Given the description of an element on the screen output the (x, y) to click on. 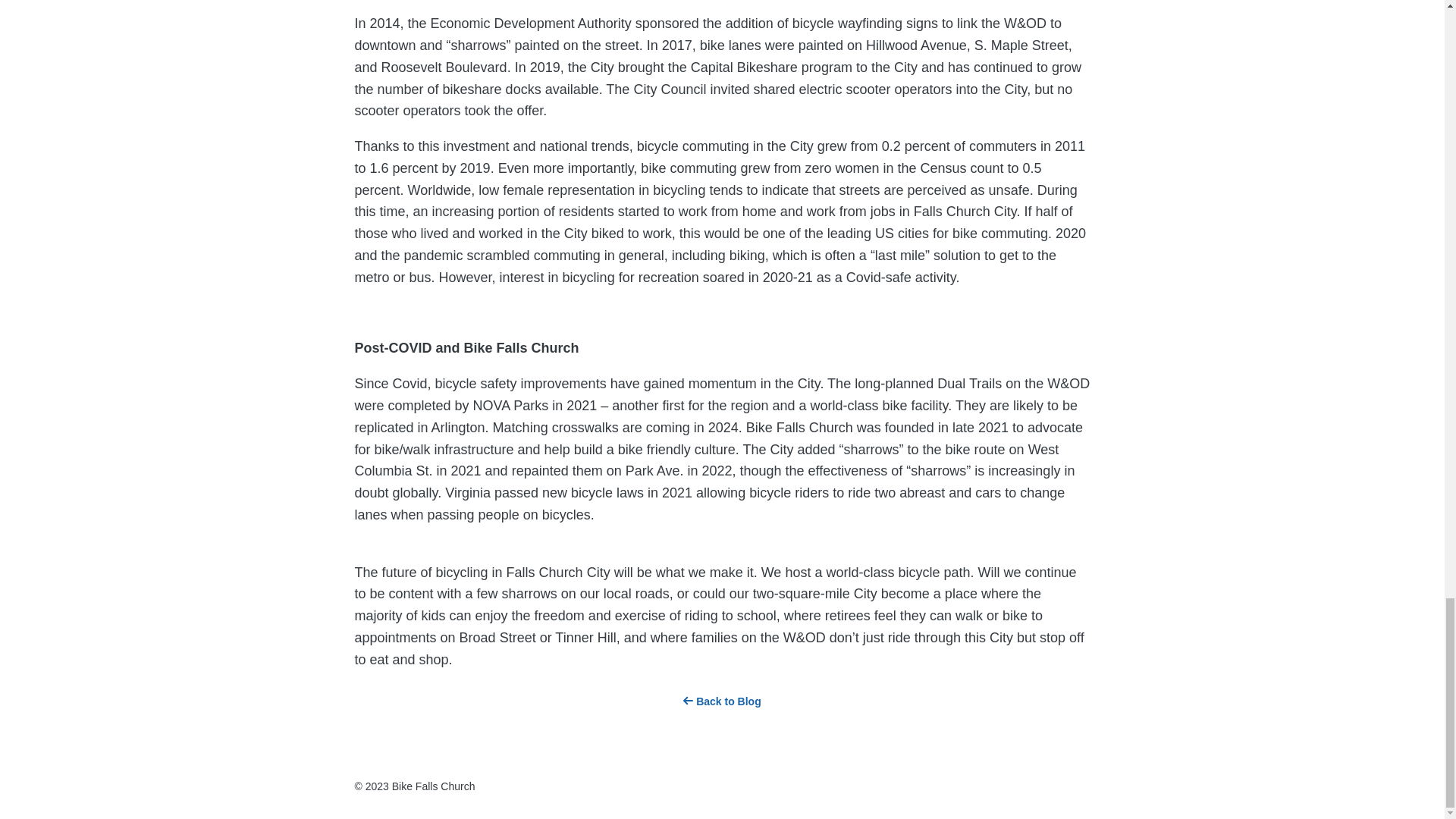
Back to Blog (721, 701)
